Given the description of an element on the screen output the (x, y) to click on. 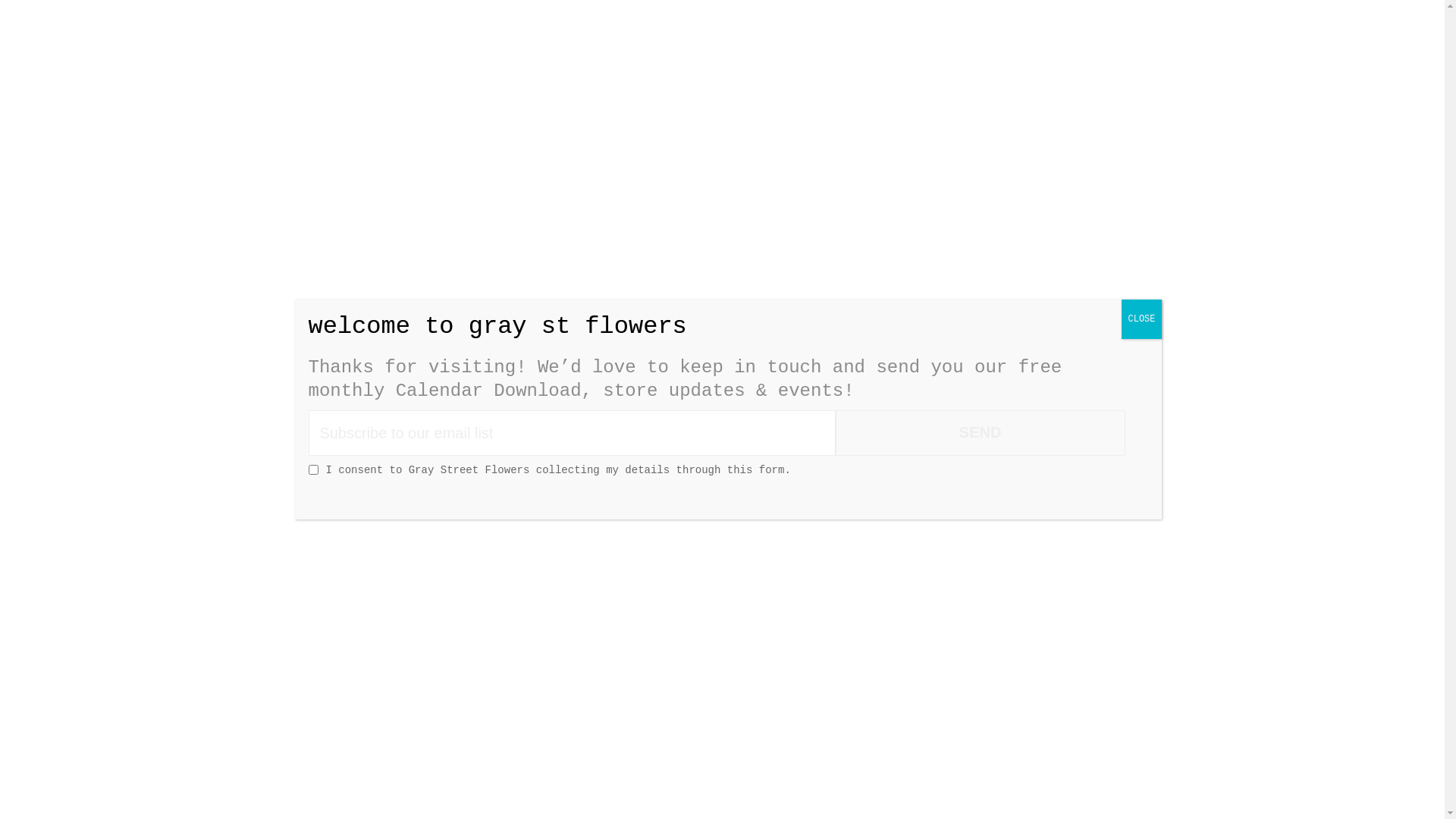
WEDDINGS Element type: text (709, 122)
SEND Element type: text (980, 432)
BLOG Element type: text (803, 122)
55722000 Element type: text (977, 193)
HOME Element type: text (352, 122)
SHOP ONLINE Element type: text (462, 122)
CLOSE Element type: text (1141, 318)
Gray Street Flowers Element type: hover (721, 64)
ABOUT US Element type: text (594, 122)
0 Element type: text (1103, 121)
FAQ & DELIVERIES Element type: text (940, 122)
126 Gray St Hamilton, Victoria Element type: text (594, 193)
